Given the description of an element on the screen output the (x, y) to click on. 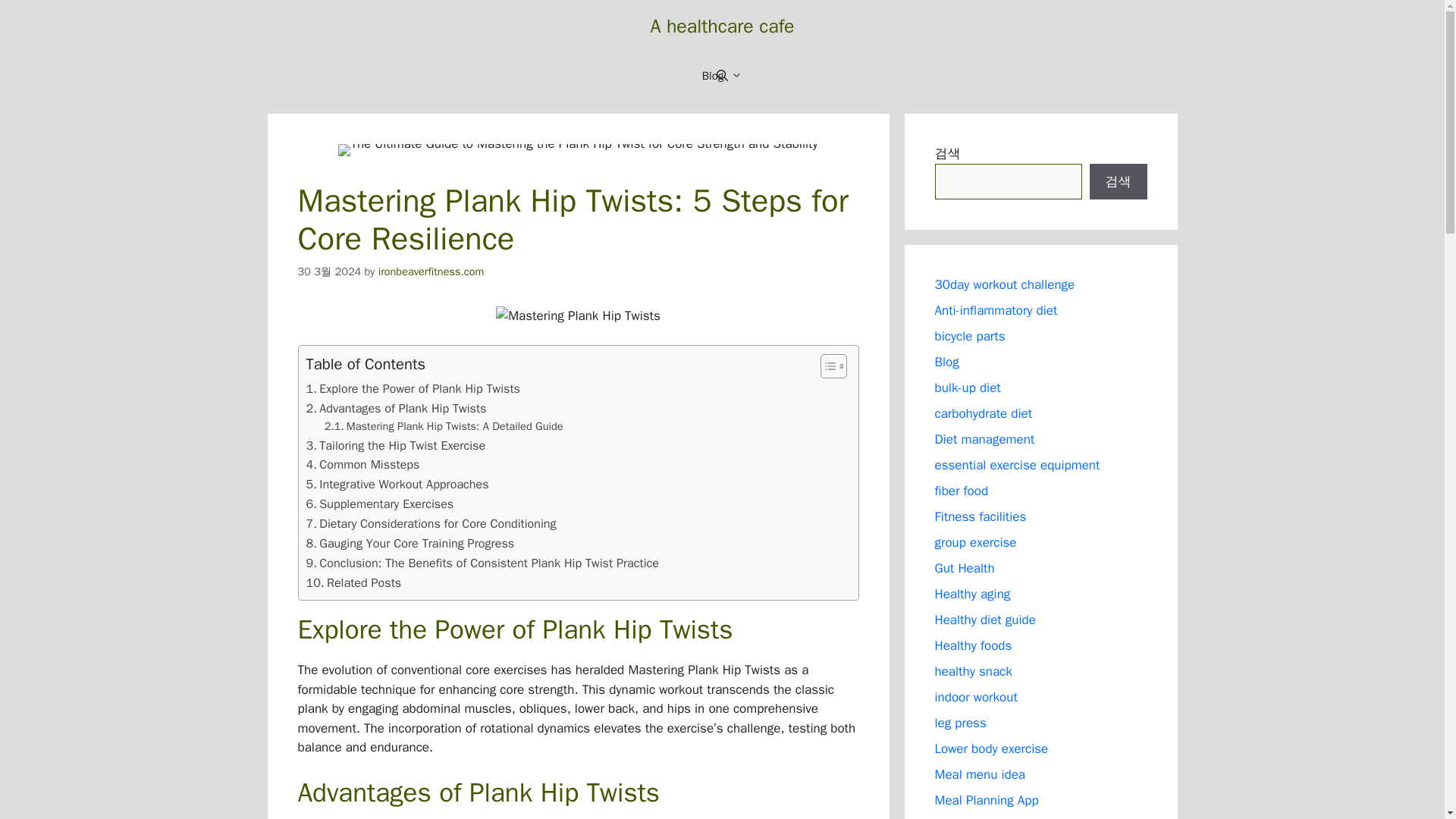
Tailoring the Hip Twist Exercise (395, 445)
Mastering Plank Hip Twists: A Detailed Guide (443, 425)
Related Posts (353, 582)
bulk-up diet (967, 387)
Tailoring the Hip Twist Exercise (395, 445)
Dietary Considerations for Core Conditioning (430, 523)
Explore the Power of Plank Hip Twists (412, 388)
Advantages of Plank Hip Twists (395, 408)
Supplementary Exercises (379, 504)
Integrative Workout Approaches (397, 484)
Blog (722, 75)
bicycle parts (969, 335)
A healthcare cafe (721, 25)
Gauging Your Core Training Progress (410, 543)
